Given the description of an element on the screen output the (x, y) to click on. 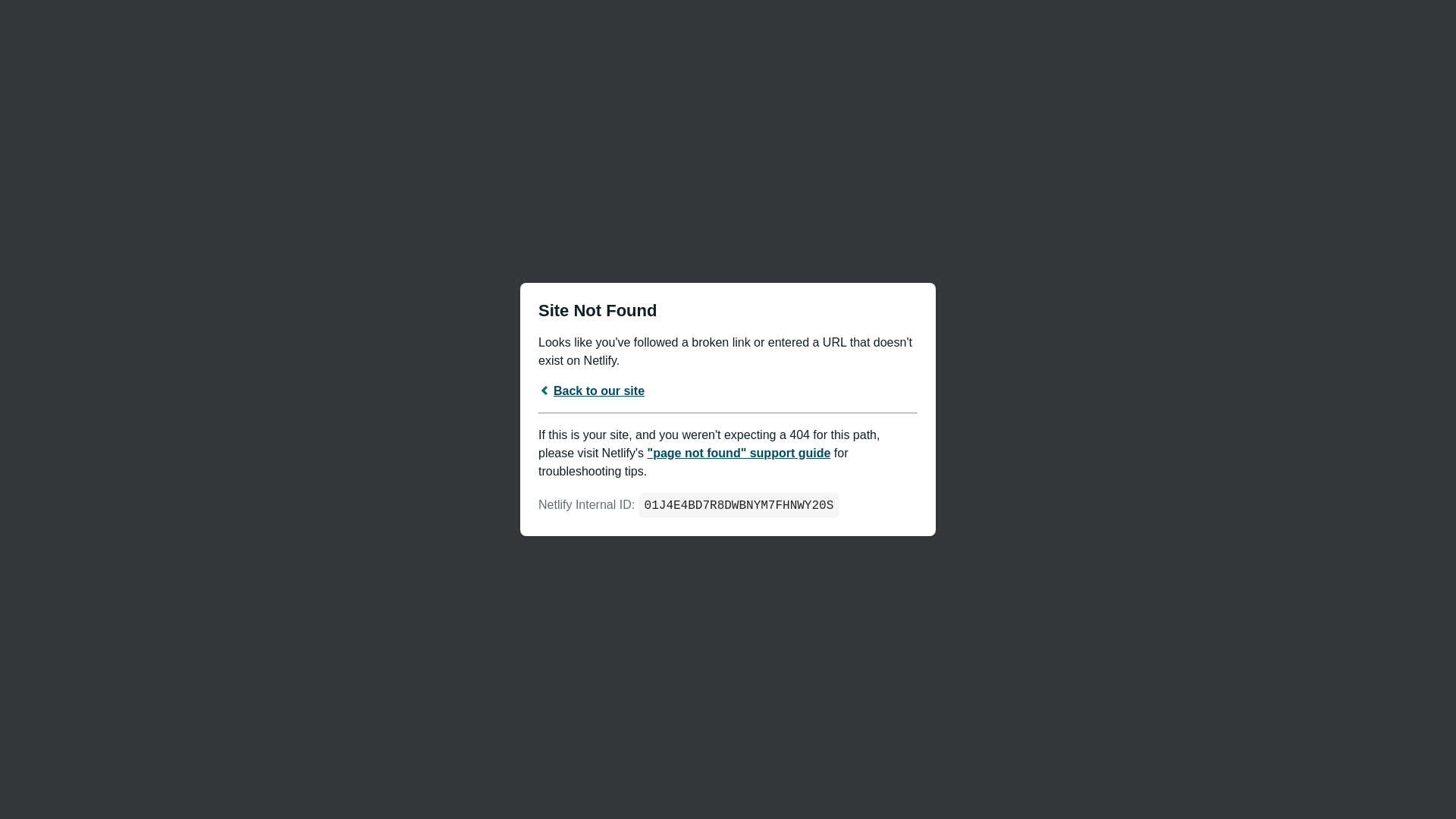
Back to our site (591, 390)
"page not found" support guide (739, 452)
